Given the description of an element on the screen output the (x, y) to click on. 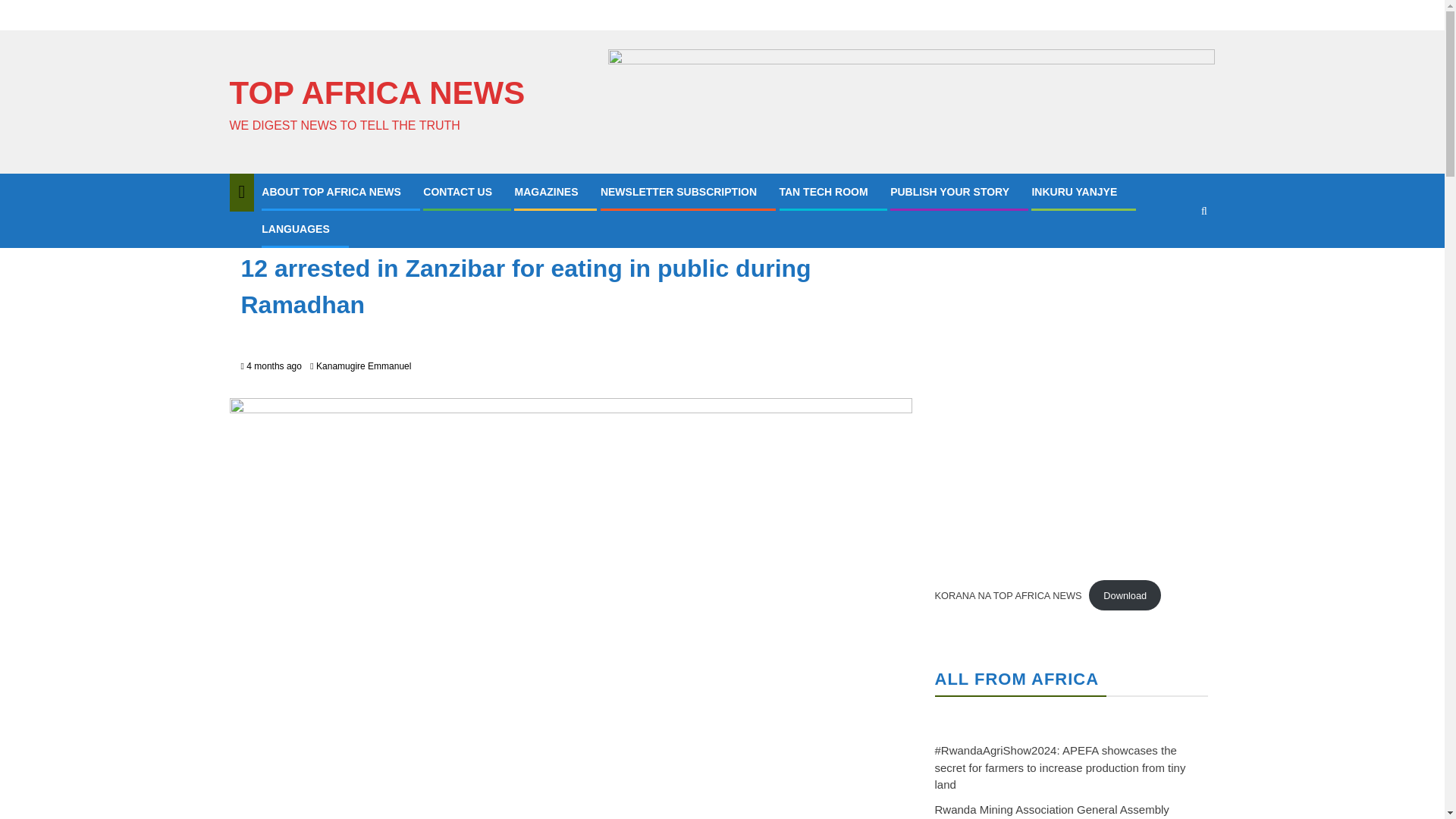
INKURU YANJYE (1073, 191)
MAGAZINES (545, 191)
NEWSLETTER SUBSCRIPTION (678, 191)
Kanamugire Emmanuel (362, 366)
ACTUALITE (270, 233)
TOP AFRICA NEWS (376, 92)
LANGUAGES (295, 228)
PUBLISH YOUR STORY (949, 191)
CONTACT US (457, 191)
Search (1174, 256)
